Given the description of an element on the screen output the (x, y) to click on. 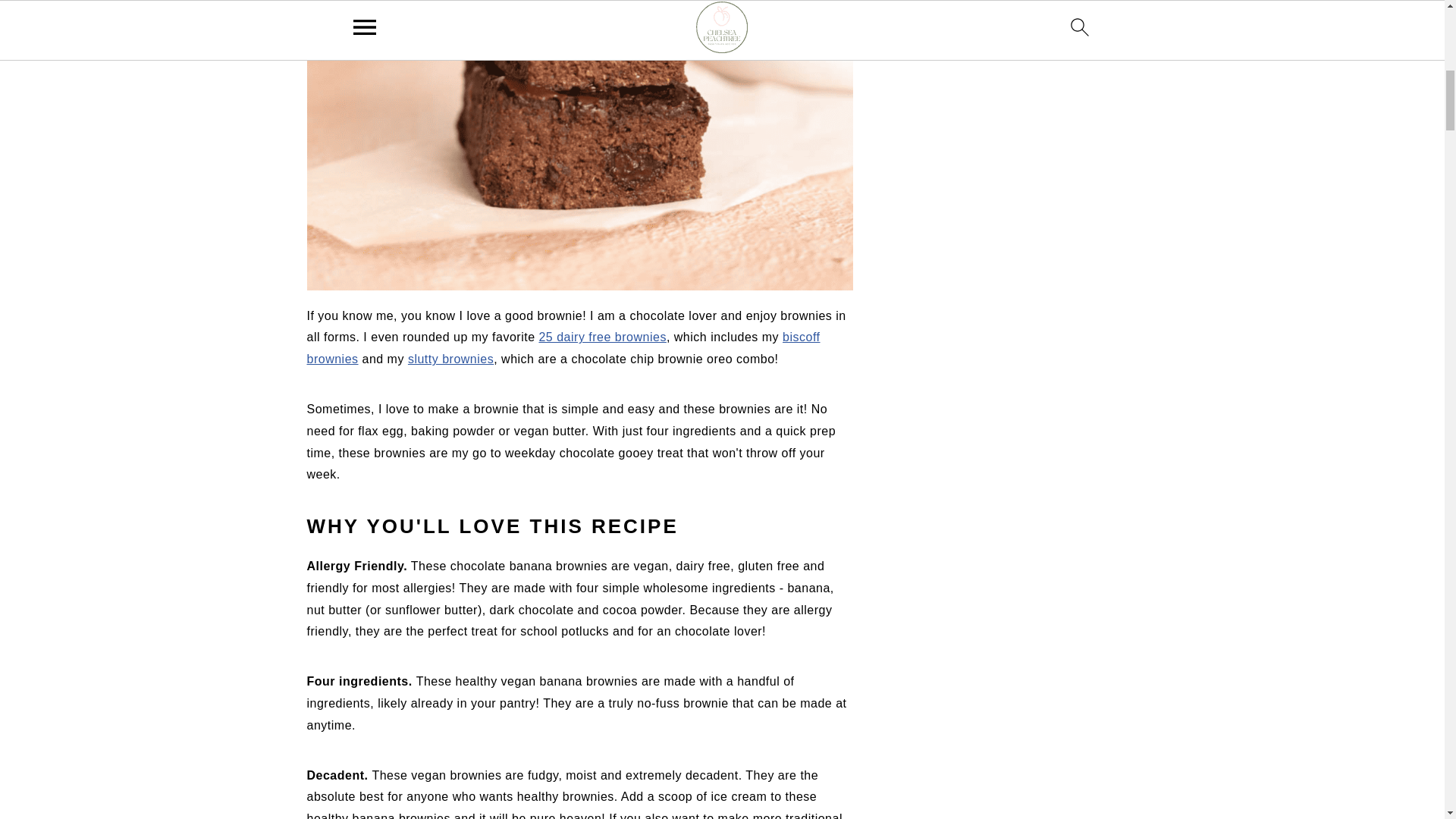
biscoff brownies (562, 347)
slutty brownies (450, 358)
25 dairy free brownies (601, 336)
